Given the description of an element on the screen output the (x, y) to click on. 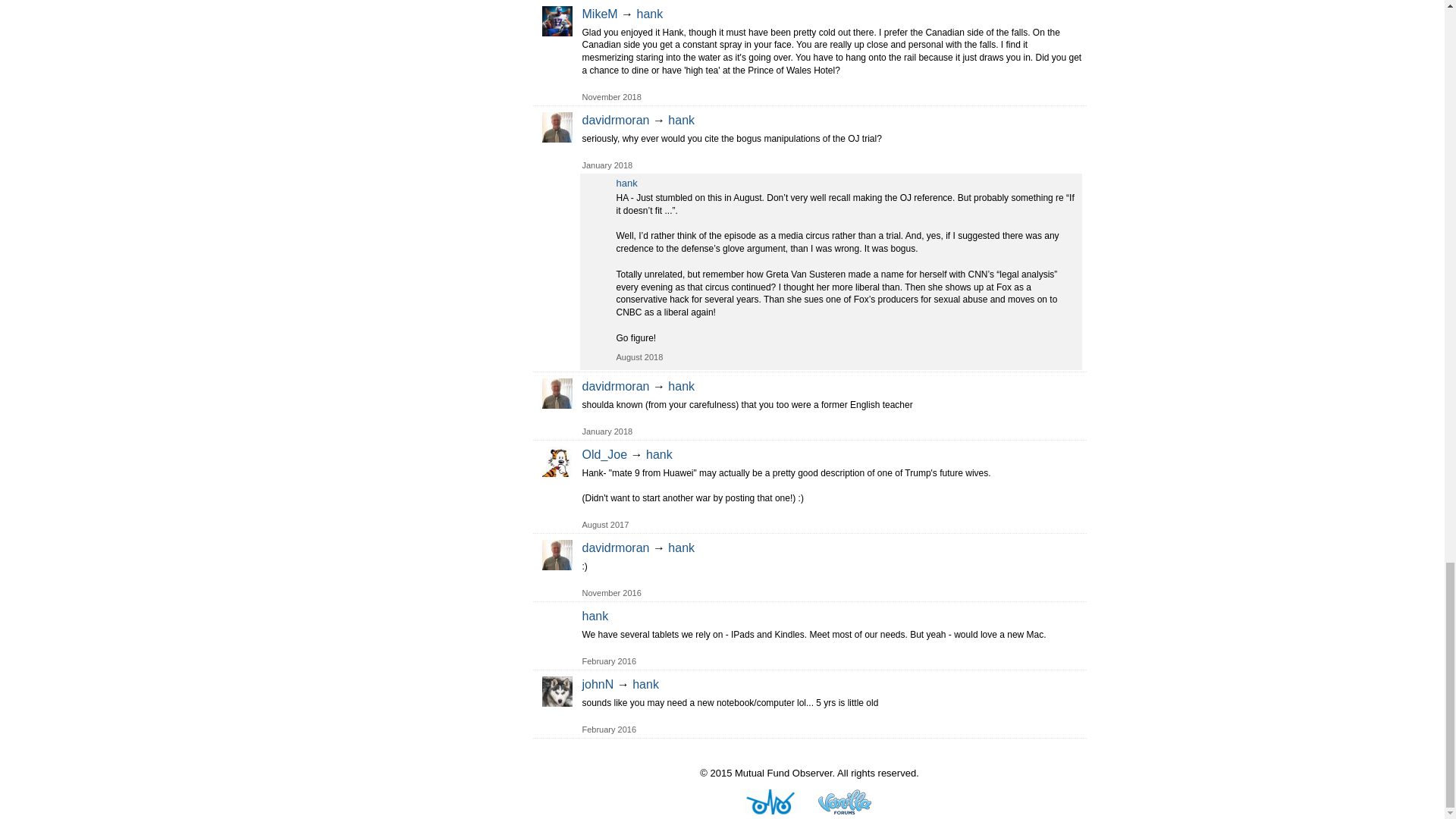
davidrmoran (556, 393)
MikeM (556, 20)
davidrmoran (556, 127)
August 19, 2018 11:55PM (638, 356)
davidrmoran (556, 554)
